Given the description of an element on the screen output the (x, y) to click on. 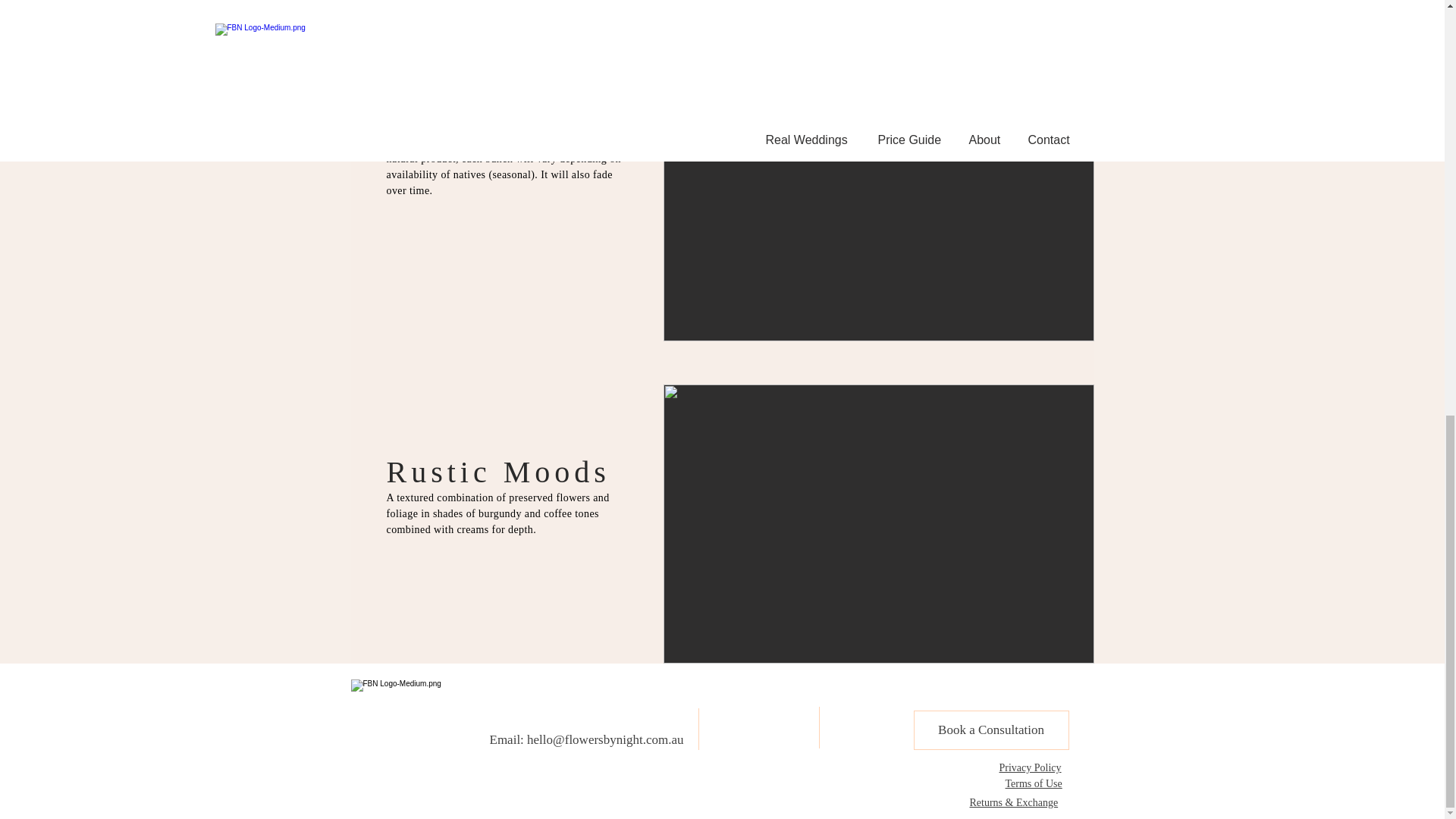
Terms of Use (1034, 783)
Book a Consultation (990, 730)
Privacy Policy (1029, 767)
